Given the description of an element on the screen output the (x, y) to click on. 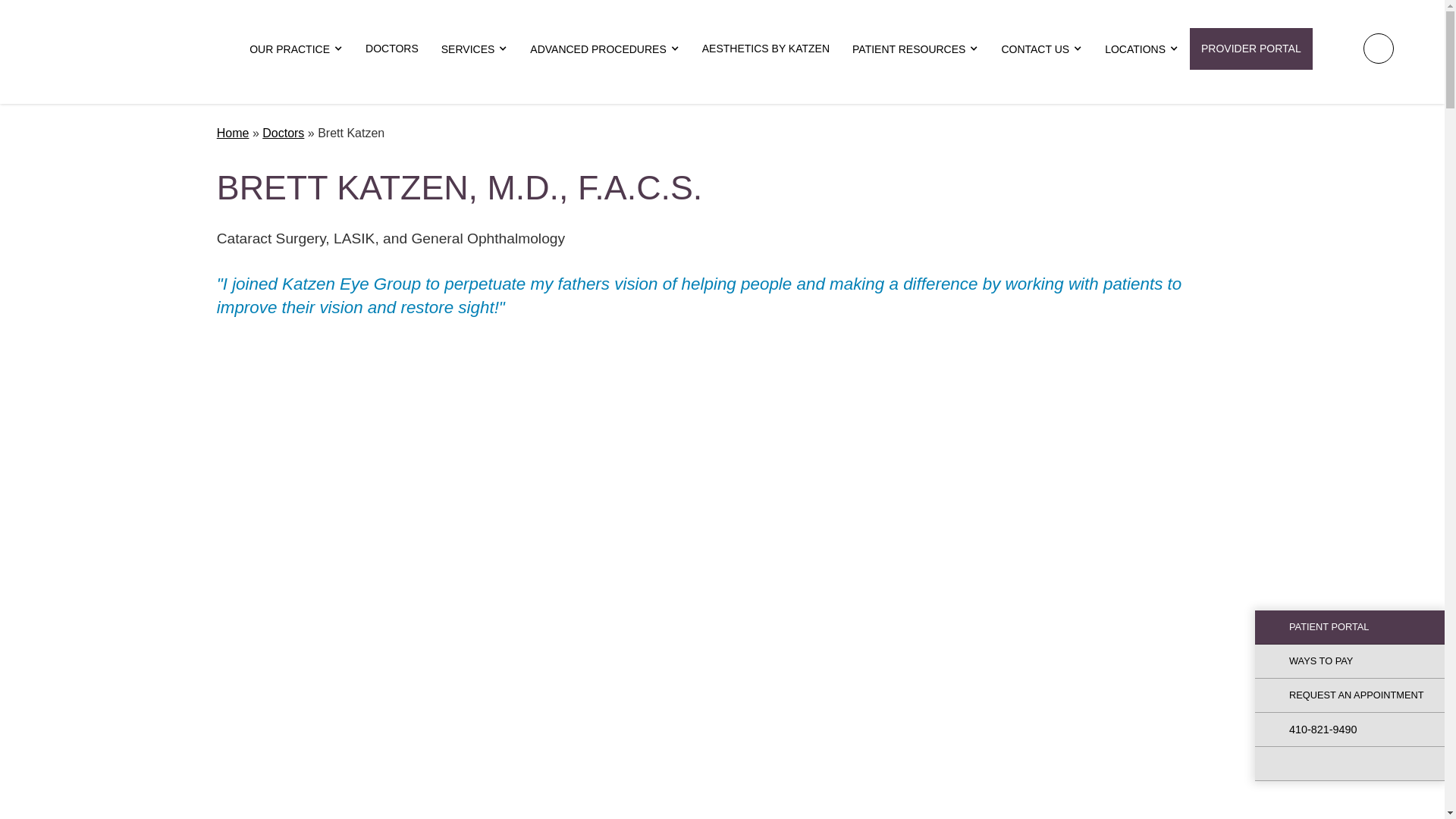
Doctors (391, 47)
OUR PRACTICE (295, 48)
Menu Dropdown (474, 48)
ADVANCED PROCEDURES (604, 48)
AESTHETICS BY KATZEN (765, 47)
SERVICES (474, 48)
PATIENT RESOURCES (915, 48)
Dropdown Menu (295, 48)
Go to homepage (118, 48)
DOCTORS (391, 47)
